Given the description of an element on the screen output the (x, y) to click on. 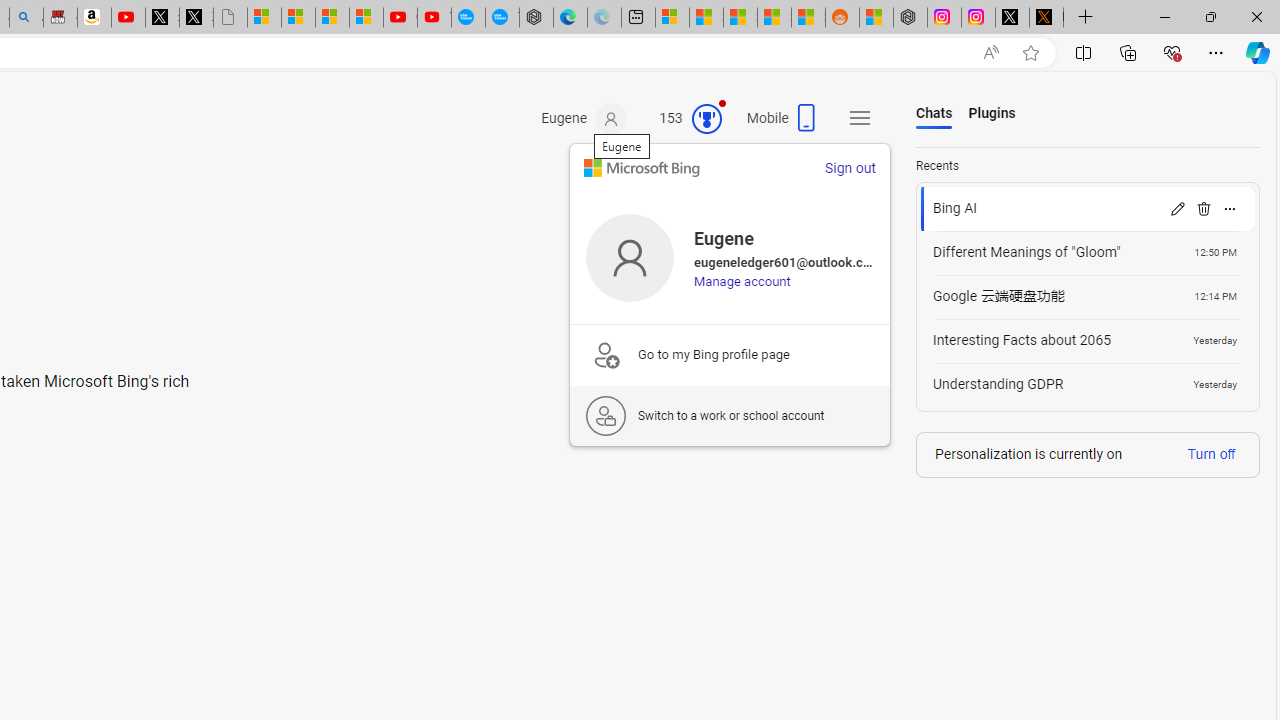
Amazon Echo Dot PNG - Search Images (26, 17)
work signin (605, 416)
Gloom - YouTube (400, 17)
Browser essentials (1171, 52)
Delete (1203, 208)
Collections (1128, 52)
Mobile (783, 124)
Manage account (742, 281)
Copilot (Ctrl+Shift+.) (1258, 52)
Split screen (1083, 52)
Plugins (991, 113)
Sign out (849, 168)
Switch to a work or school account (729, 415)
